Given the description of an element on the screen output the (x, y) to click on. 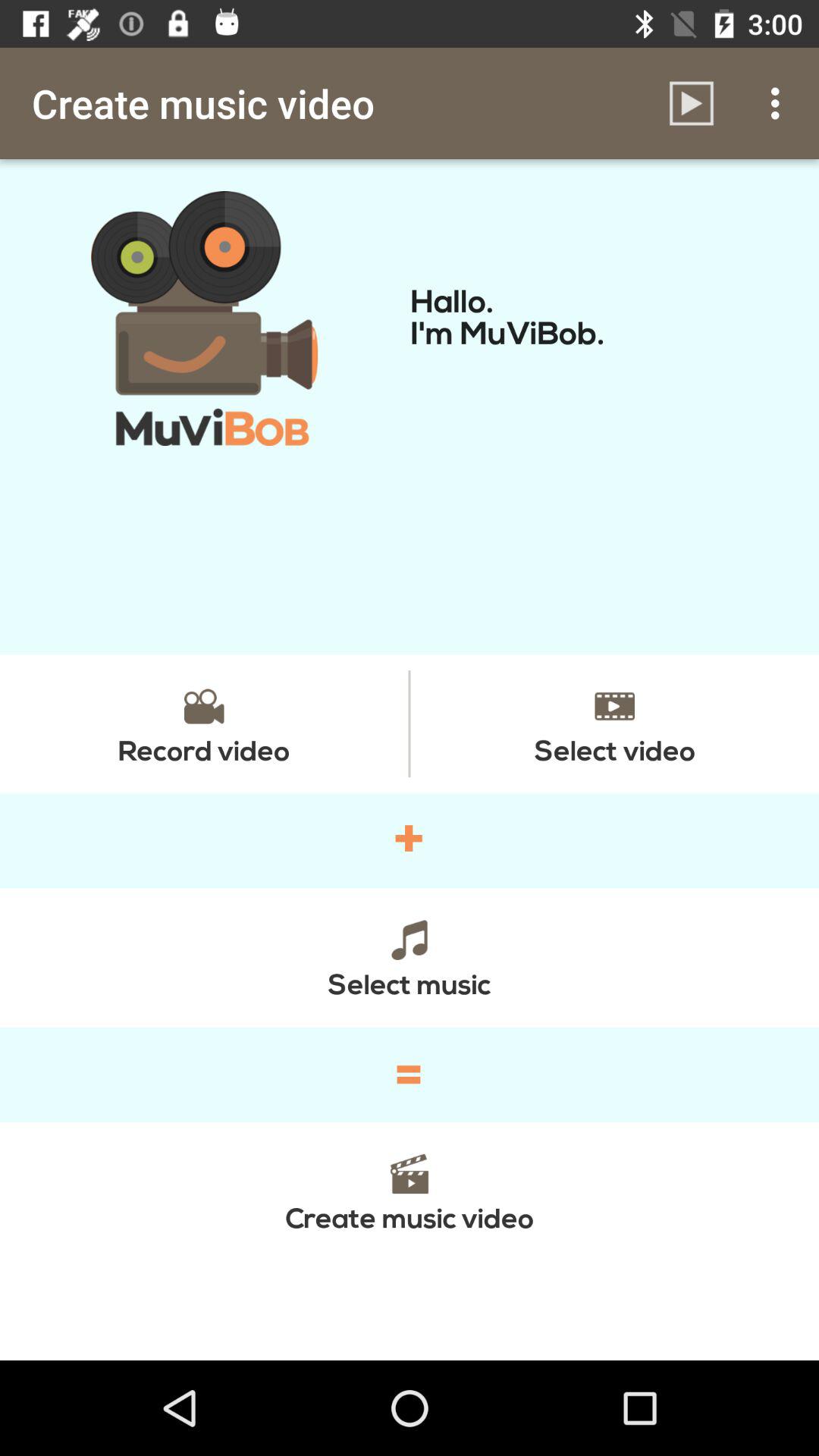
select the icon on the left (204, 723)
